Given the description of an element on the screen output the (x, y) to click on. 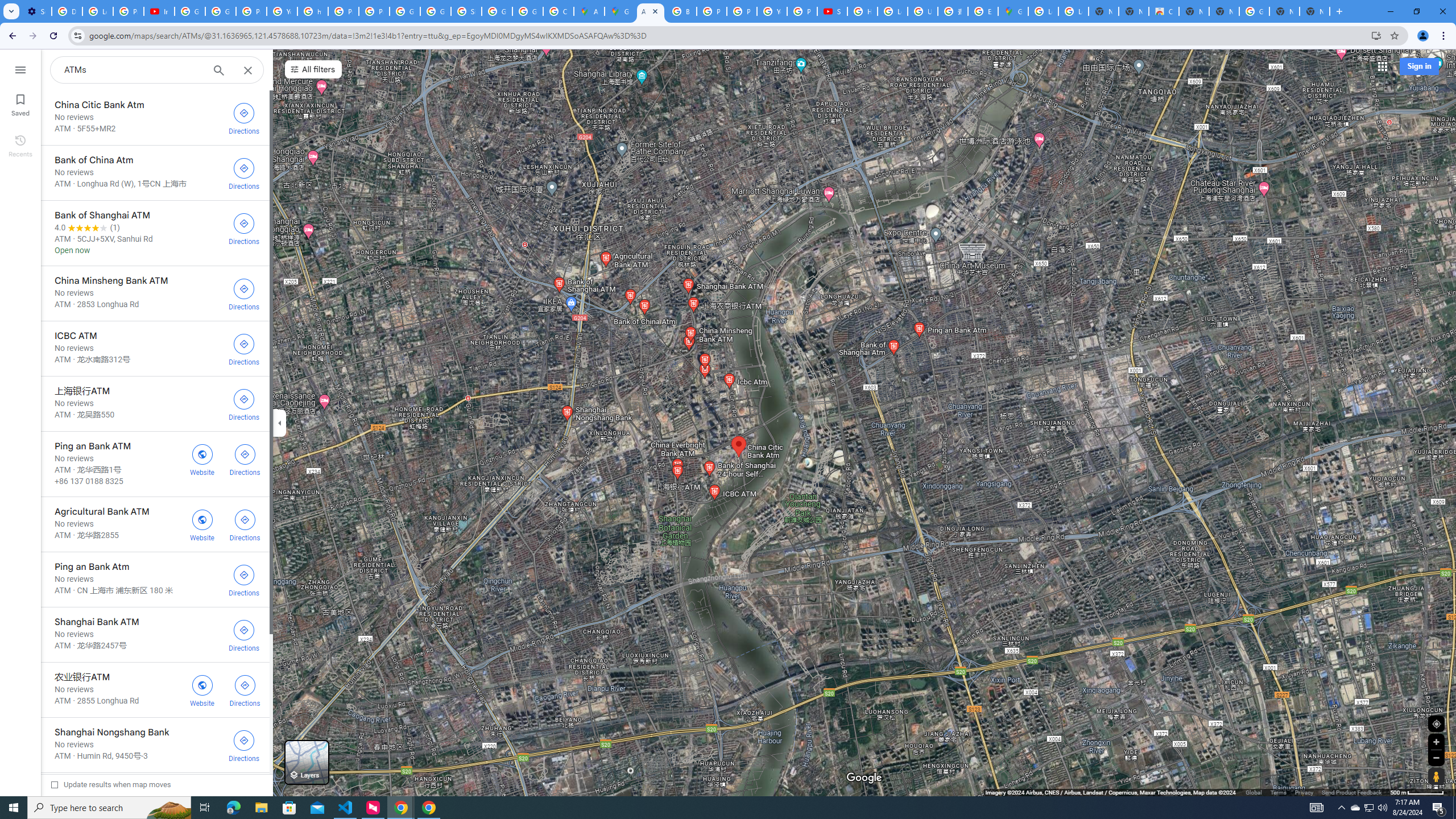
China Minsheng Bank ATM (154, 293)
Sign in - Google Accounts (465, 11)
Privacy Help Center - Policies Help (711, 11)
Delete photos & videos - Computer - Google Photos Help (66, 11)
Get directions to Shanghai Bank ATM (243, 634)
Subscriptions - YouTube (832, 11)
Ping an Bank Atm (154, 579)
https://scholar.google.com/ (312, 11)
Privacy Help Center - Policies Help (741, 11)
Visit Ping an Bank ATM's website (202, 458)
